Given the description of an element on the screen output the (x, y) to click on. 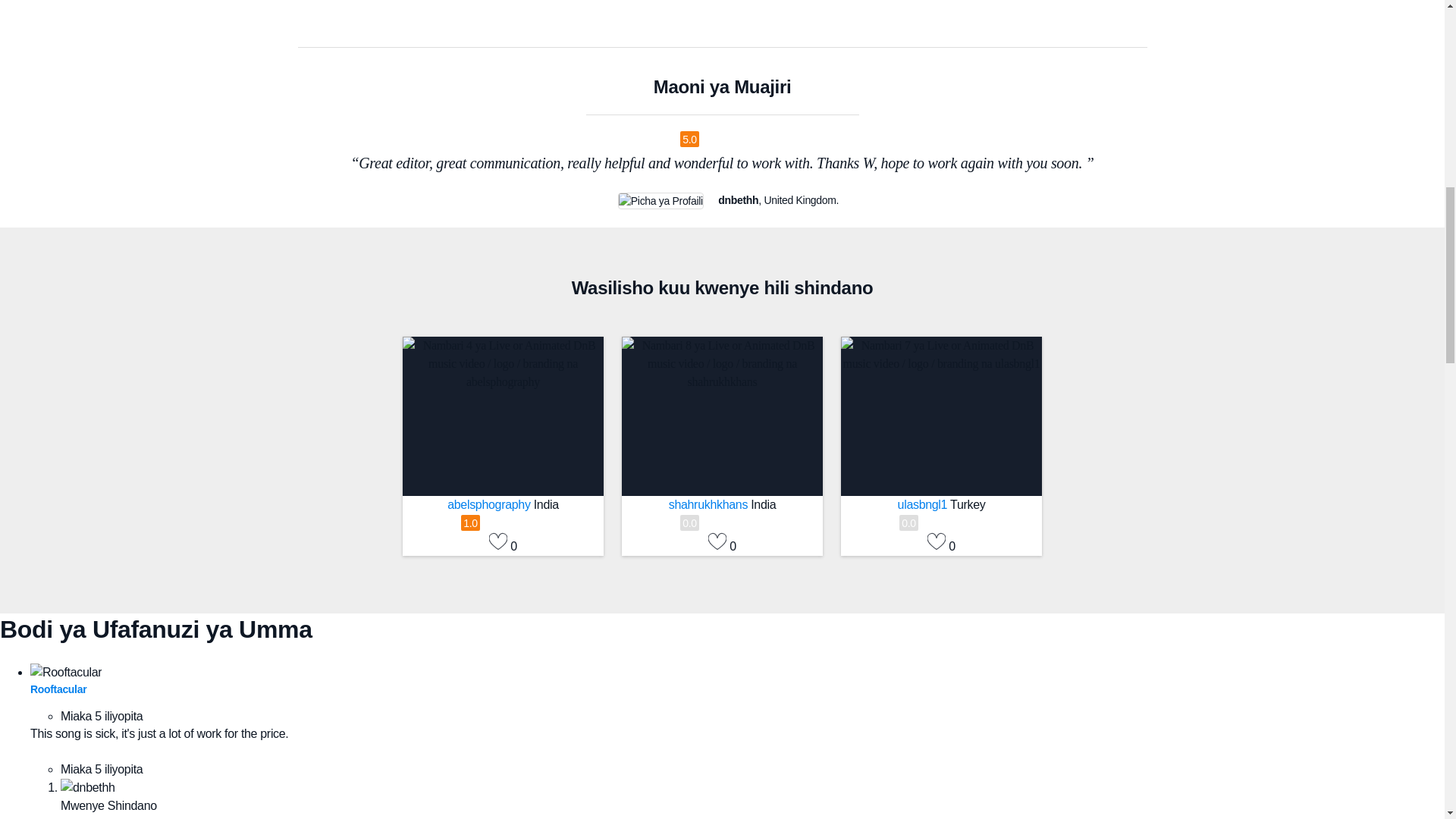
ulasbngl1 (924, 504)
Rooftacular (57, 689)
abelsphography (490, 504)
shahrukhkhans (709, 504)
